Given the description of an element on the screen output the (x, y) to click on. 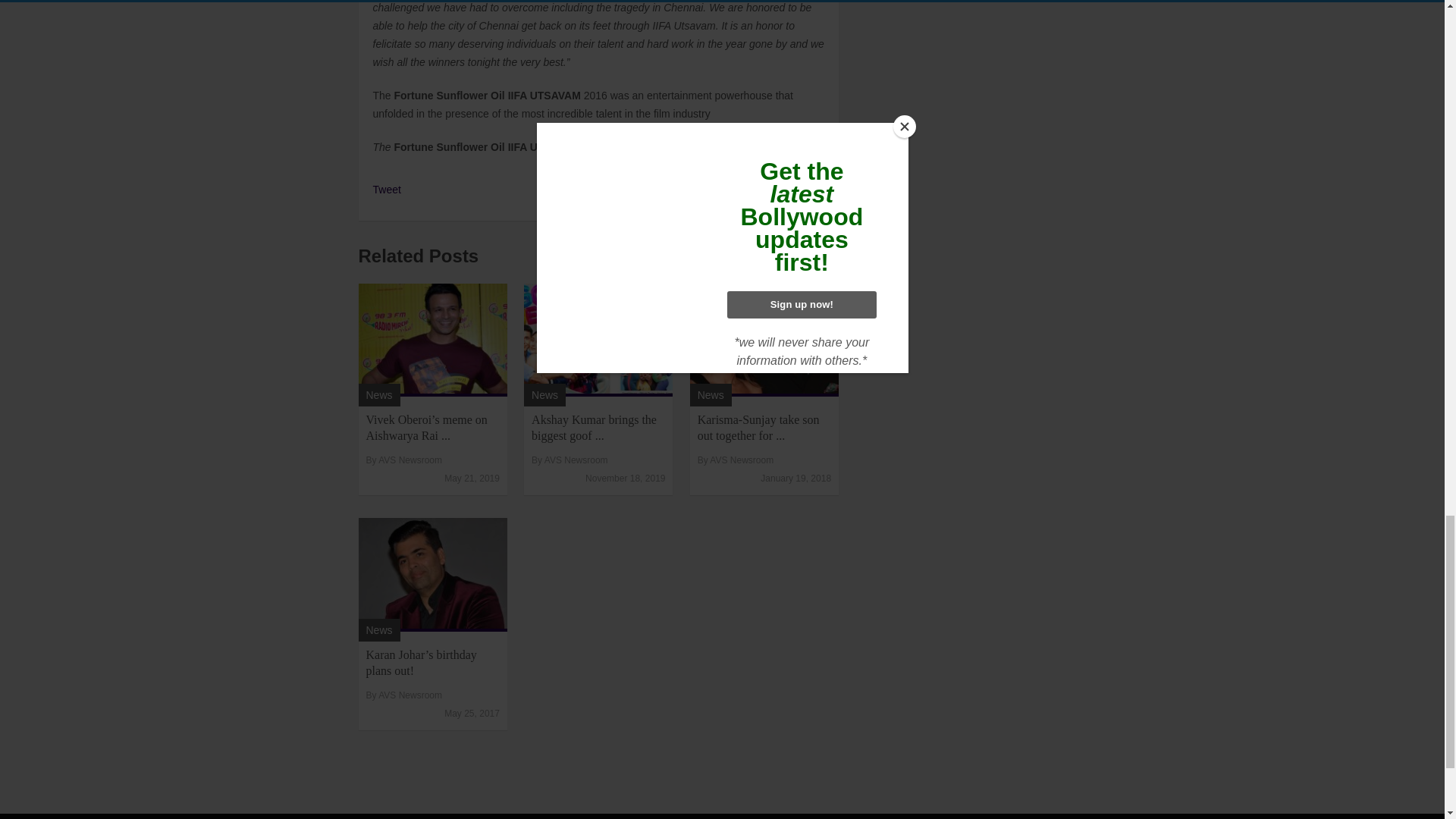
View all posts in News (544, 395)
AVS Newsroom (576, 460)
News (544, 395)
AVS Newsroom (410, 695)
AVS Newsroom (741, 460)
View all posts in News (378, 395)
Karisma-Sunjay take son out together for lunch (764, 339)
View all posts in News (710, 395)
Akshay Kumar brings the biggest goof up of the year (598, 339)
Posts by AVS Newsroom (576, 460)
News (378, 395)
Posts by AVS Newsroom (410, 460)
Pin It (553, 191)
News (378, 630)
Akshay Kumar brings the biggest goof up of the year (593, 427)
